Given the description of an element on the screen output the (x, y) to click on. 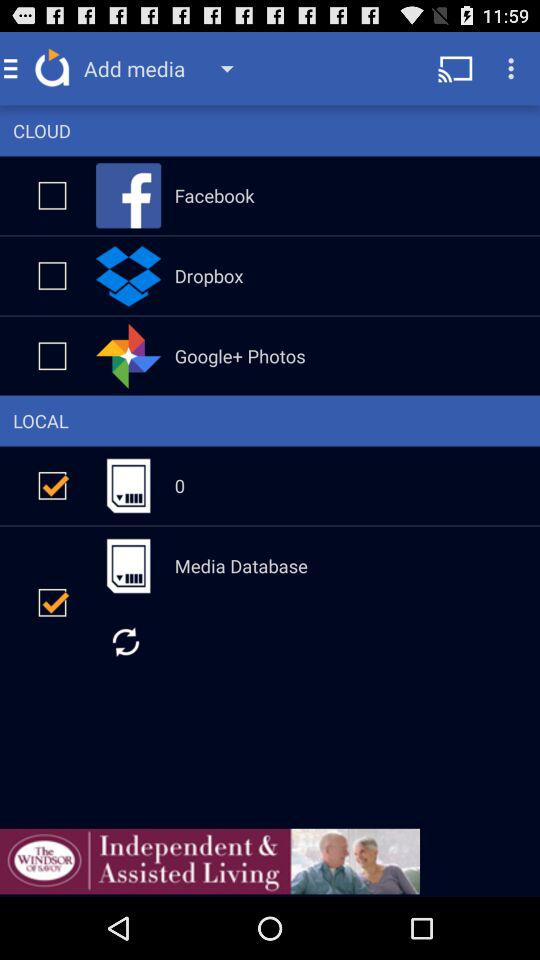
go to tick option (52, 485)
